Given the description of an element on the screen output the (x, y) to click on. 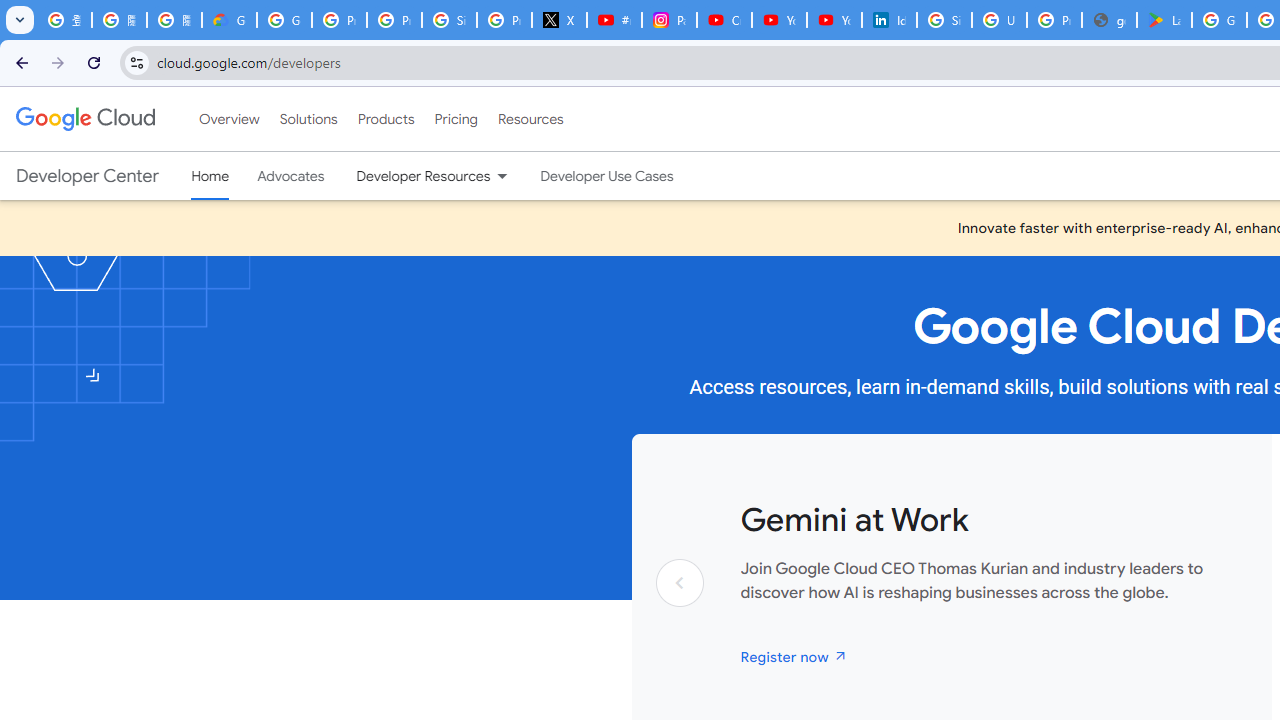
#nbabasketballhighlights - YouTube (614, 20)
Register now (793, 656)
Products (385, 119)
Resources (530, 119)
Google Cloud (84, 118)
X (559, 20)
Last Shelter: Survival - Apps on Google Play (1163, 20)
Developer Center (87, 175)
Pricing (455, 119)
Sign in - Google Accounts (943, 20)
